Given the description of an element on the screen output the (x, y) to click on. 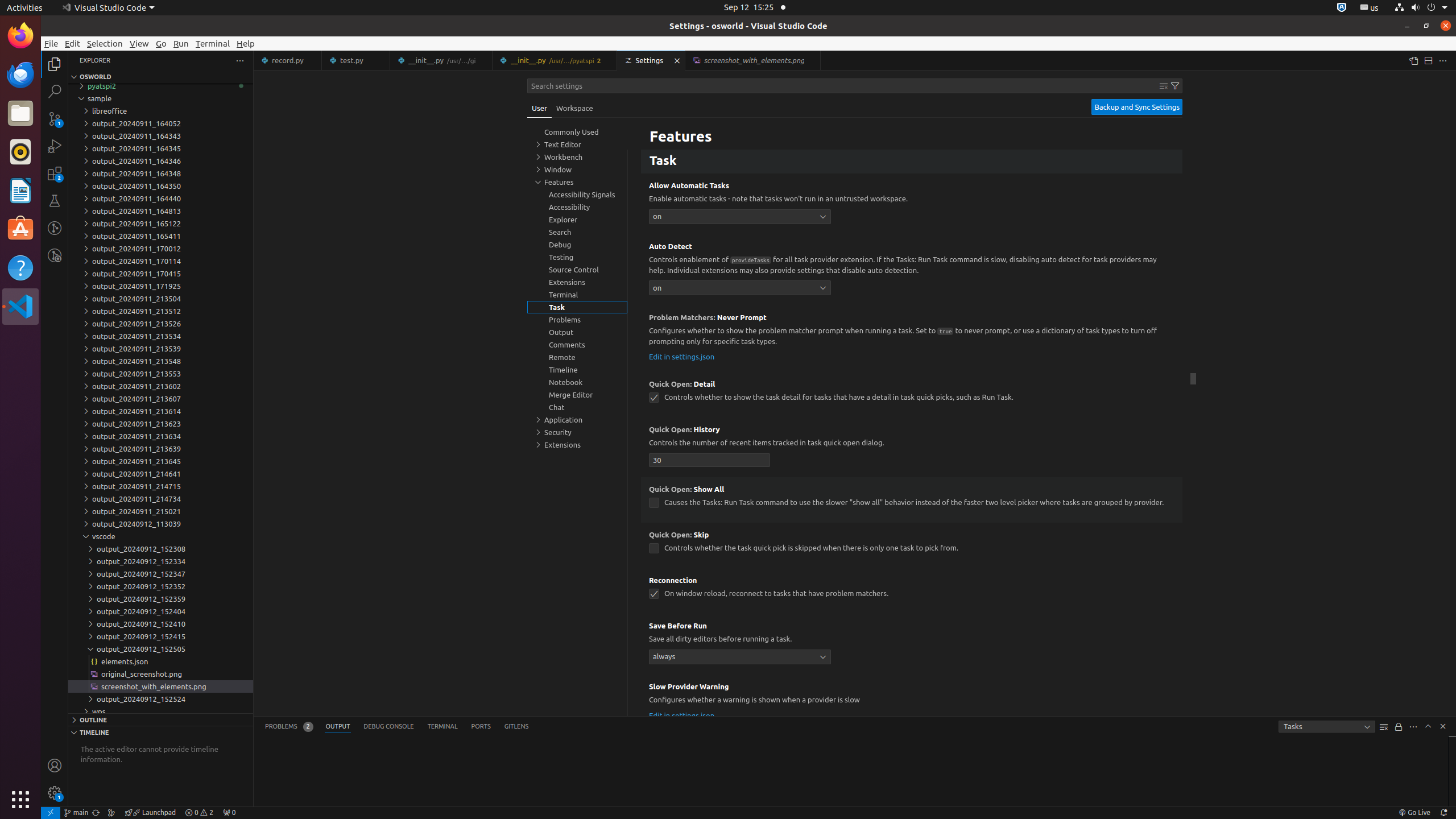
Source Control (Ctrl+Shift+G G) - 1 pending changes Source Control (Ctrl+Shift+G G) - 1 pending changes Element type: page-tab (54, 118)
integrated Element type: menu-item (739, 131)
output_20240911_213512 Element type: tree-item (160, 310)
output_20240911_213607 Element type: tree-item (160, 398)
output_20240912_152359 Element type: tree-item (160, 598)
